Given the description of an element on the screen output the (x, y) to click on. 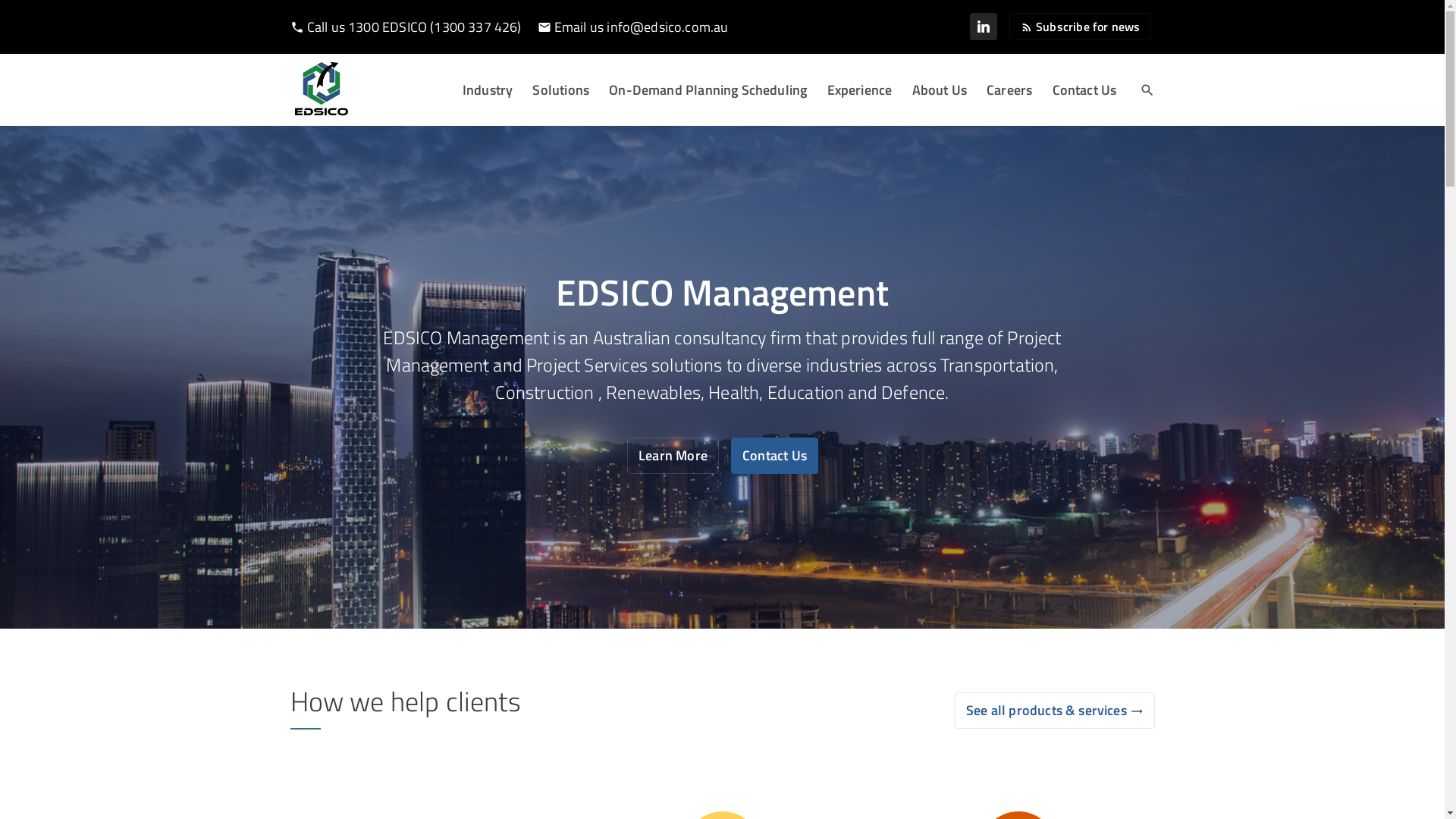
1300 EDSICO (1300 337 426) Element type: text (434, 26)
Contact Us Element type: text (1084, 90)
Contact Us Element type: text (774, 455)
Industry Element type: text (491, 90)
Solutions Element type: text (560, 90)
See all products & services  Element type: text (1054, 710)
info@edsico.com.au Element type: text (667, 26)
About Us Element type: text (939, 90)
On-Demand Planning Scheduling Element type: text (707, 90)
Subscribe for news Element type: text (1080, 26)
Learn More Element type: text (672, 455)
Go Element type: text (722, 445)
Experience Element type: text (859, 90)
Careers Element type: text (1009, 90)
